Given the description of an element on the screen output the (x, y) to click on. 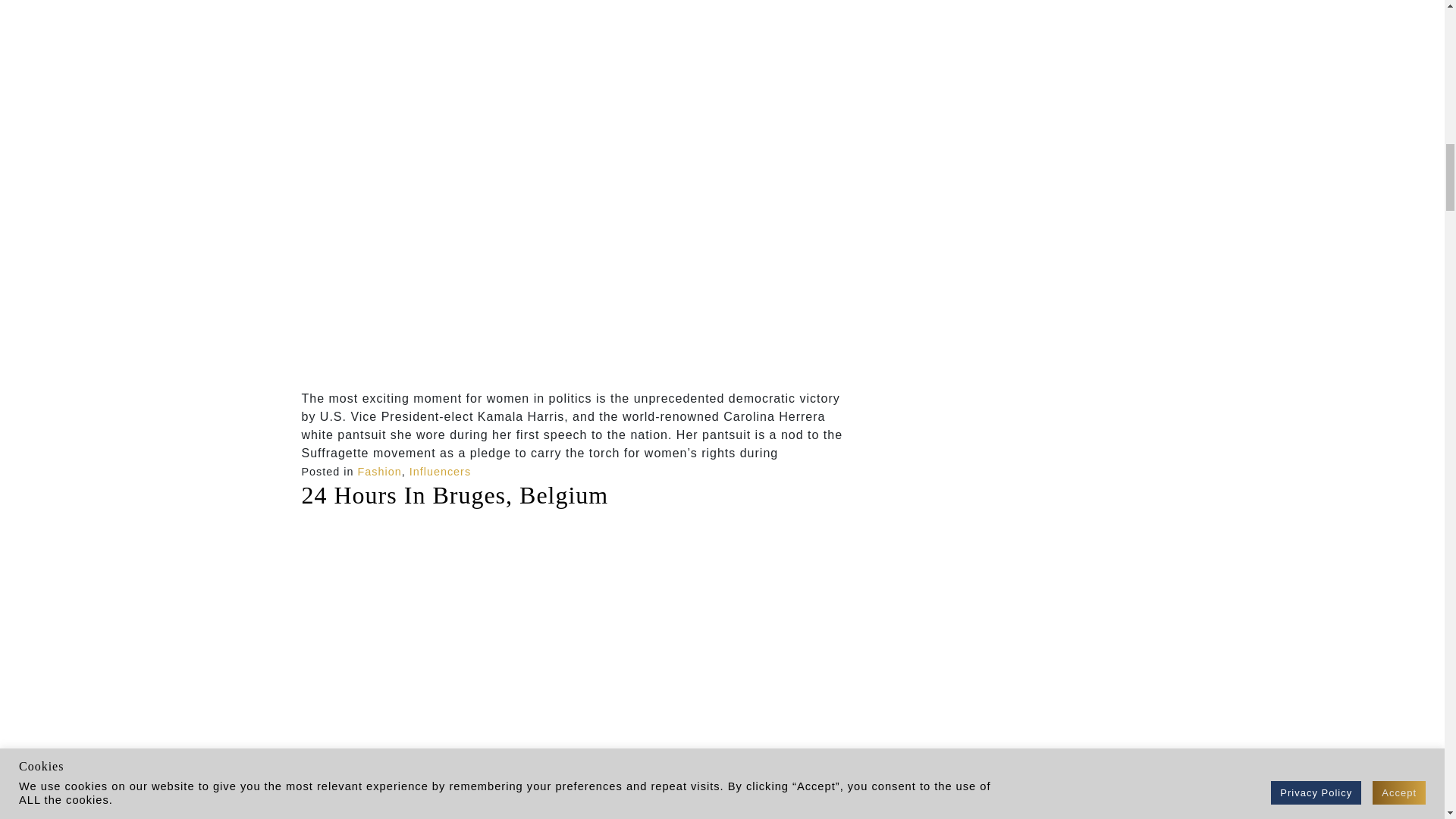
Fashion (379, 471)
Influencers (439, 471)
